Given the description of an element on the screen output the (x, y) to click on. 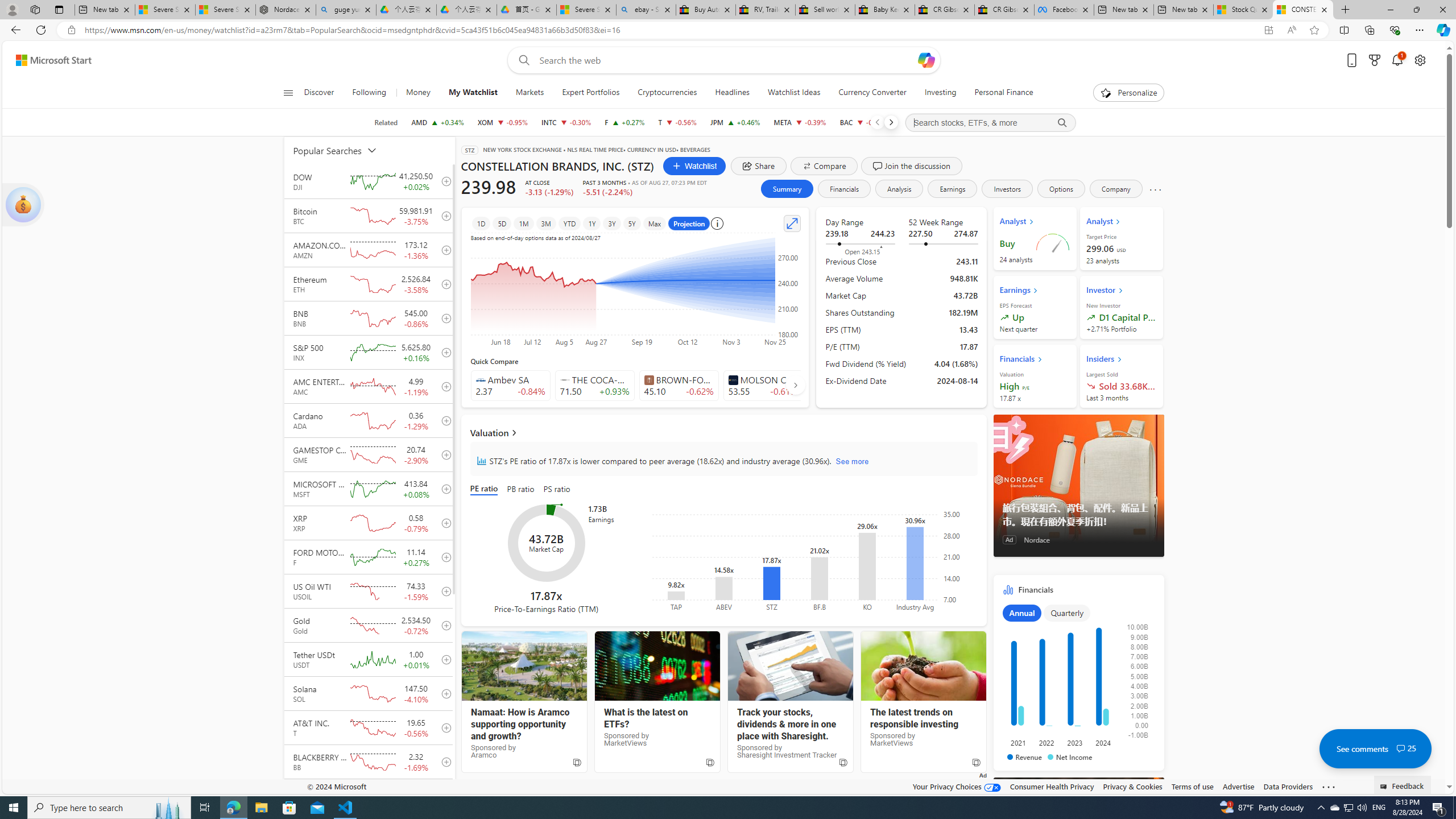
Financials (844, 188)
